Given the description of an element on the screen output the (x, y) to click on. 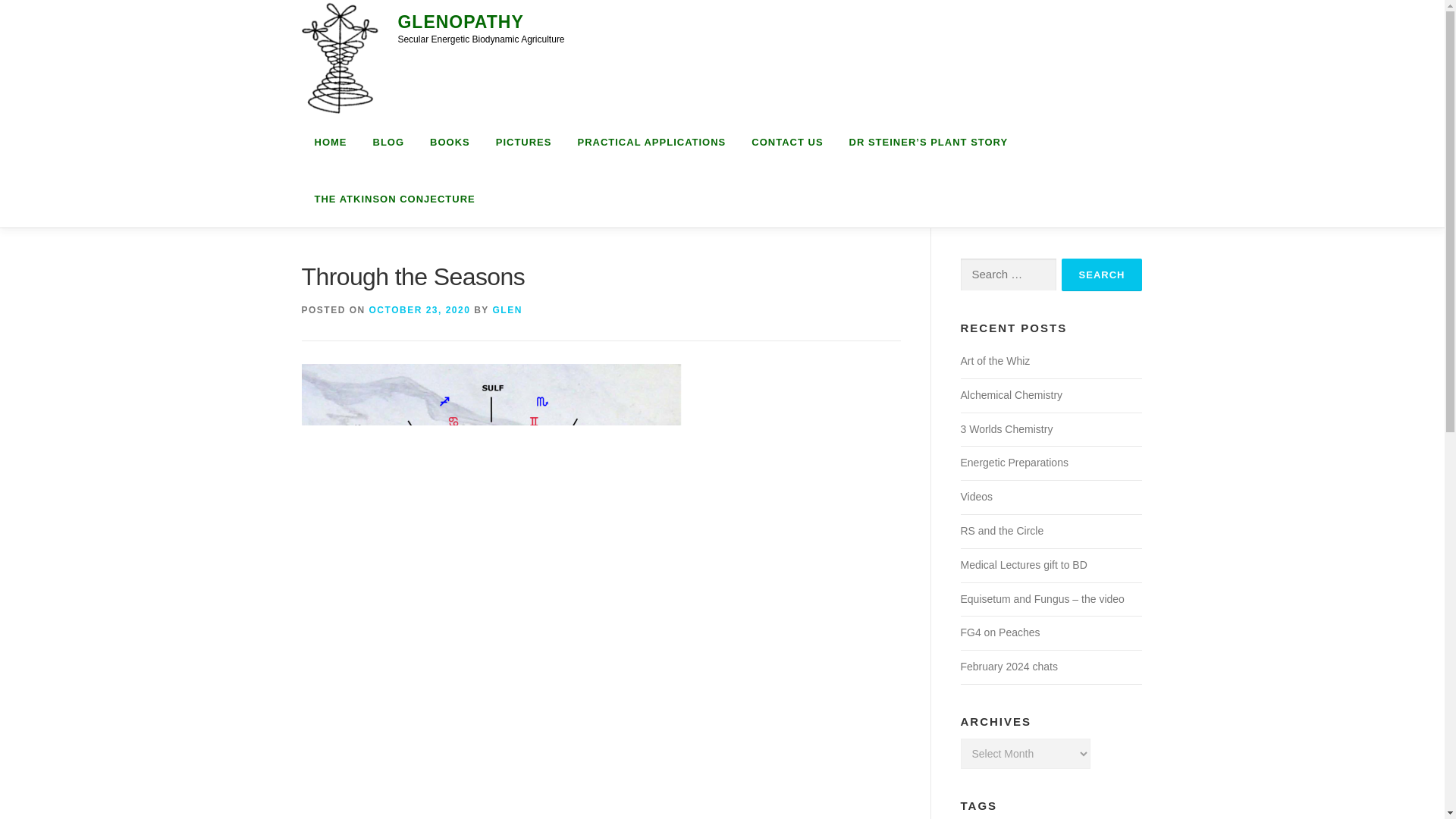
THE ATKINSON CONJECTURE (388, 198)
February 2024 chats (1008, 666)
RS and the Circle (1001, 530)
GLENOPATHY (459, 21)
CONTACT US (786, 141)
BLOG (387, 141)
Medical Lectures gift to BD (1022, 564)
Videos (975, 496)
Alchemical Chemistry (1010, 395)
HOME (330, 141)
